Given the description of an element on the screen output the (x, y) to click on. 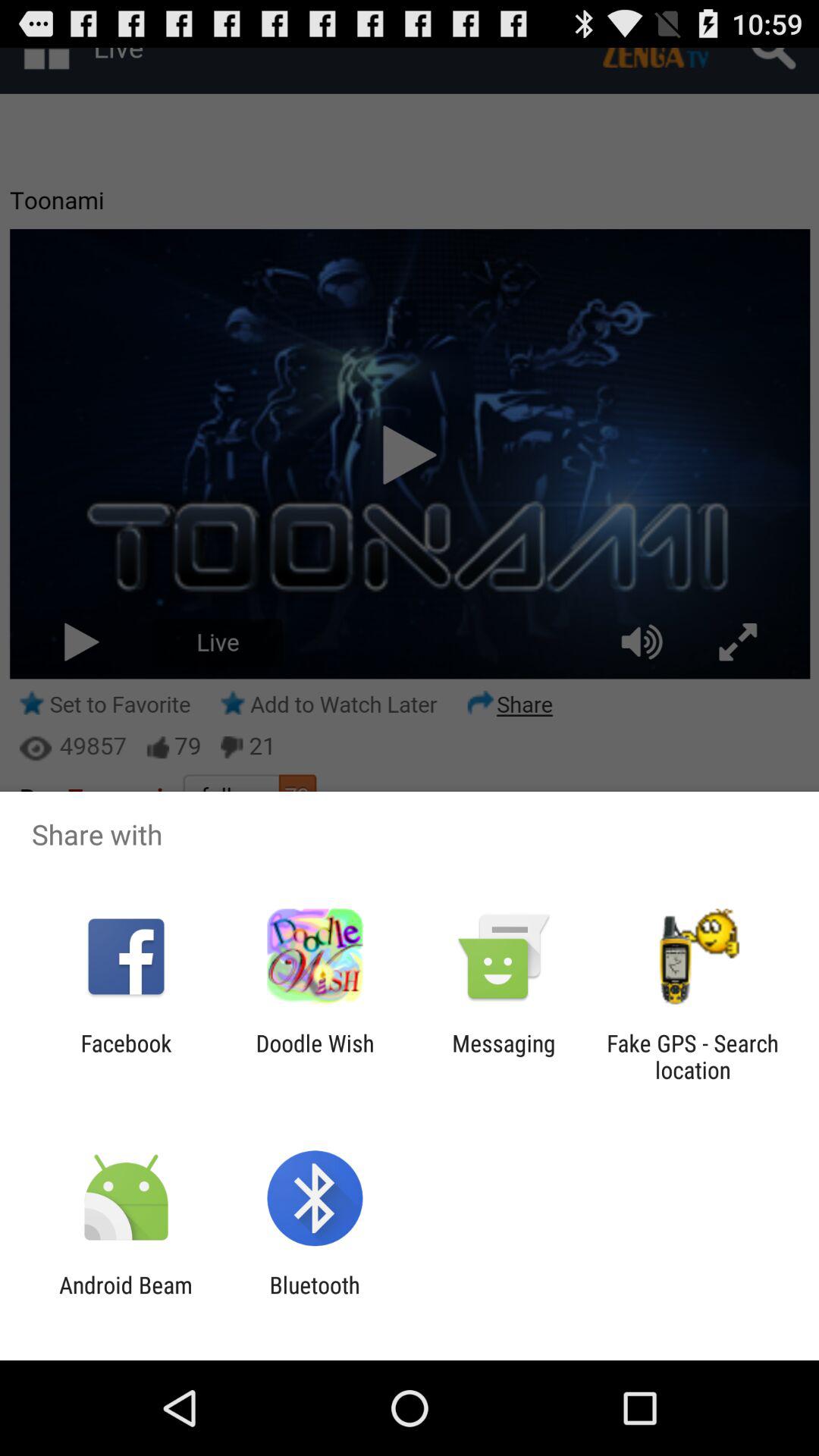
select facebook app (125, 1056)
